Given the description of an element on the screen output the (x, y) to click on. 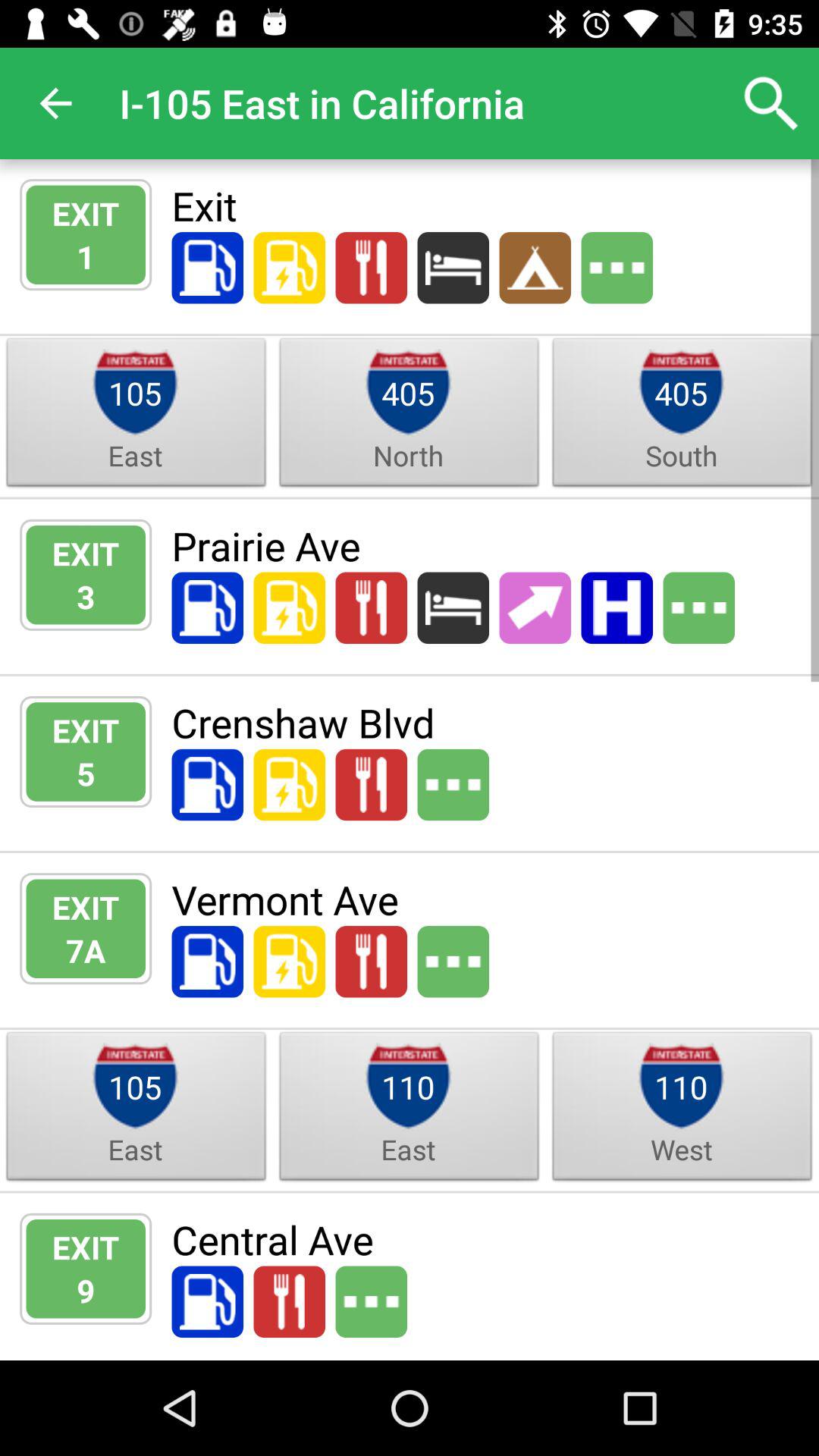
scroll until vermont ave (485, 899)
